Given the description of an element on the screen output the (x, y) to click on. 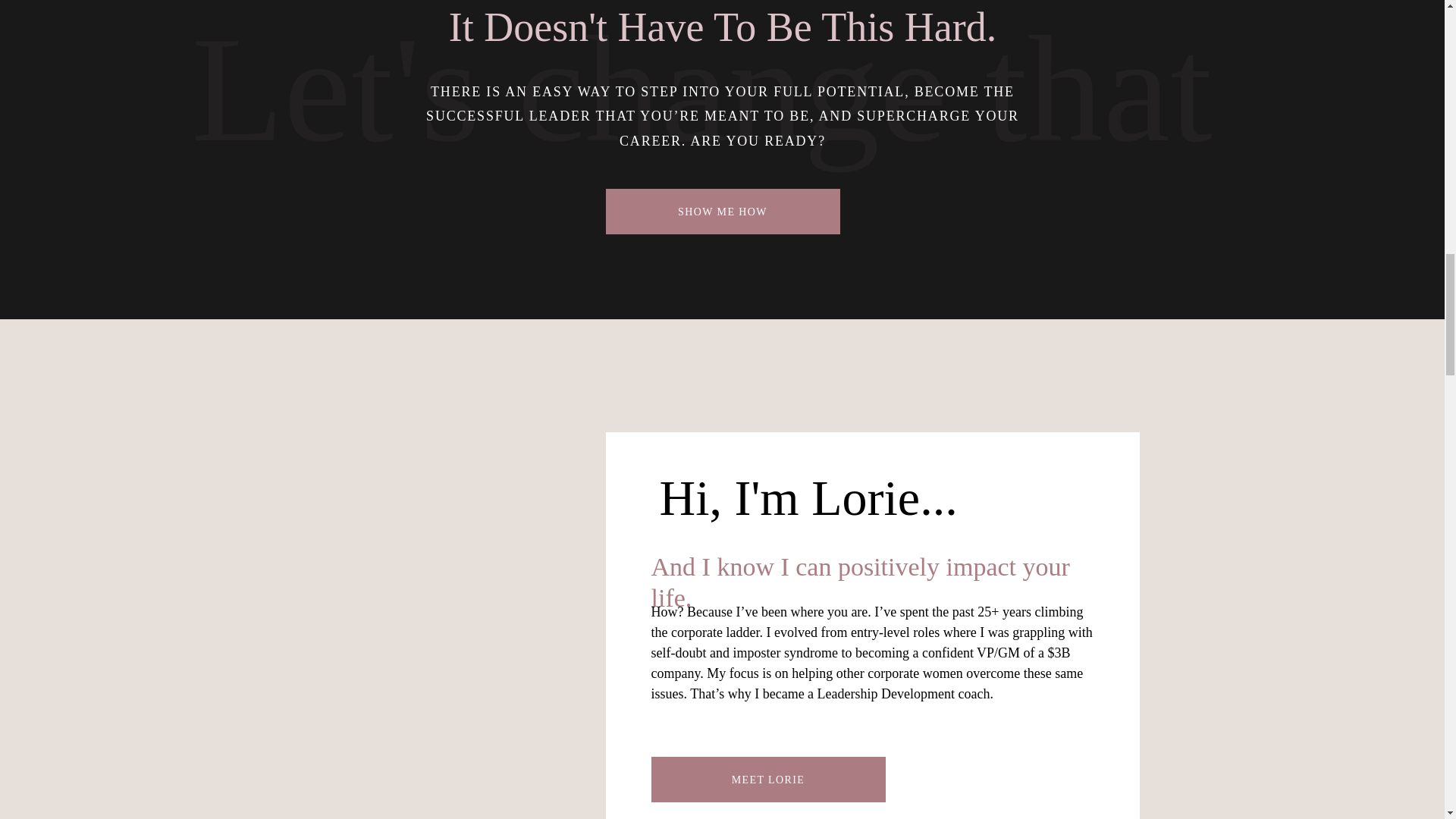
MEET LORIE (767, 777)
SHOW ME HOW (722, 209)
